Given the description of an element on the screen output the (x, y) to click on. 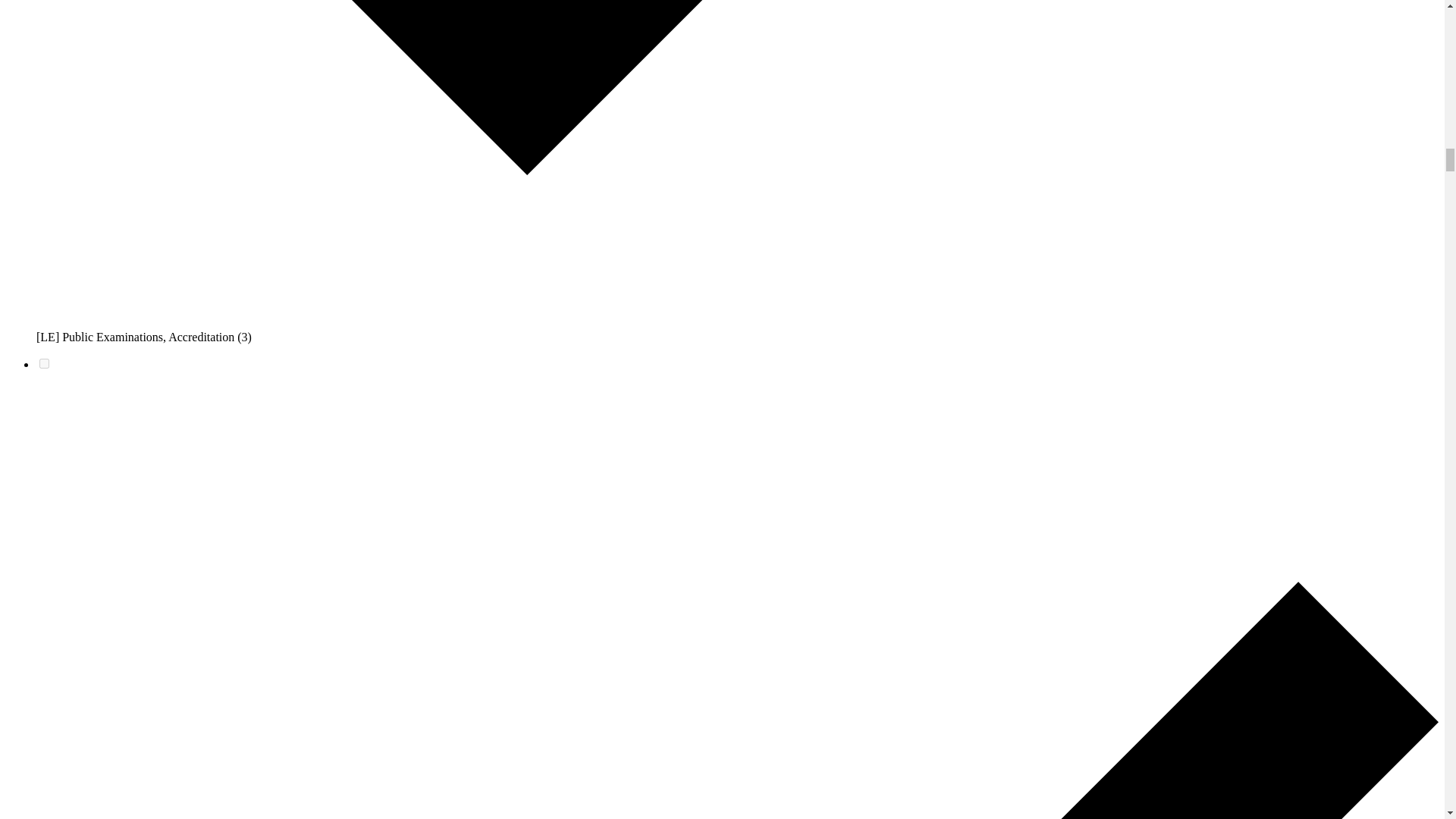
120 (44, 363)
